Given the description of an element on the screen output the (x, y) to click on. 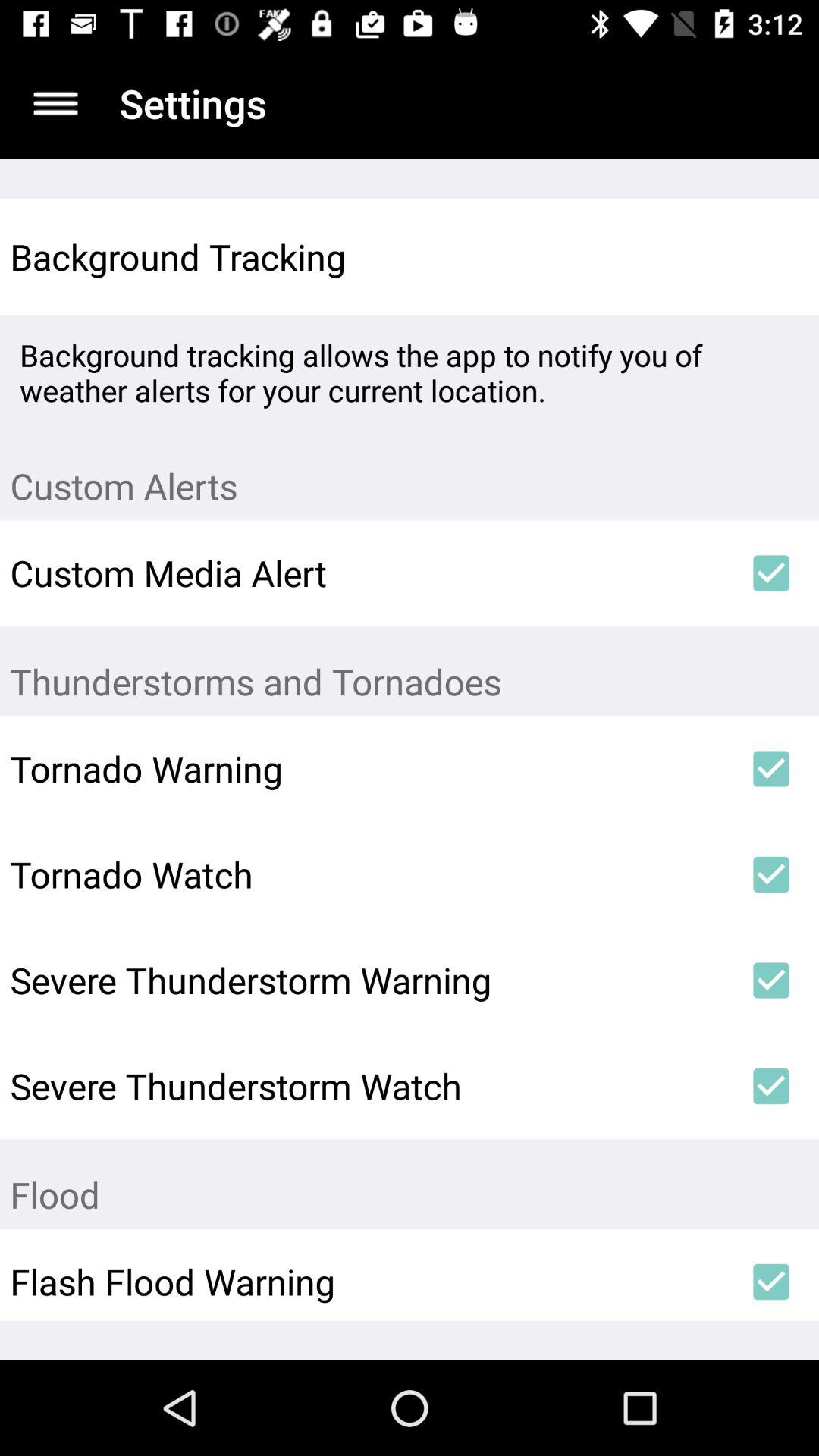
tap the icon above the background tracking allows item (771, 256)
